Given the description of an element on the screen output the (x, y) to click on. 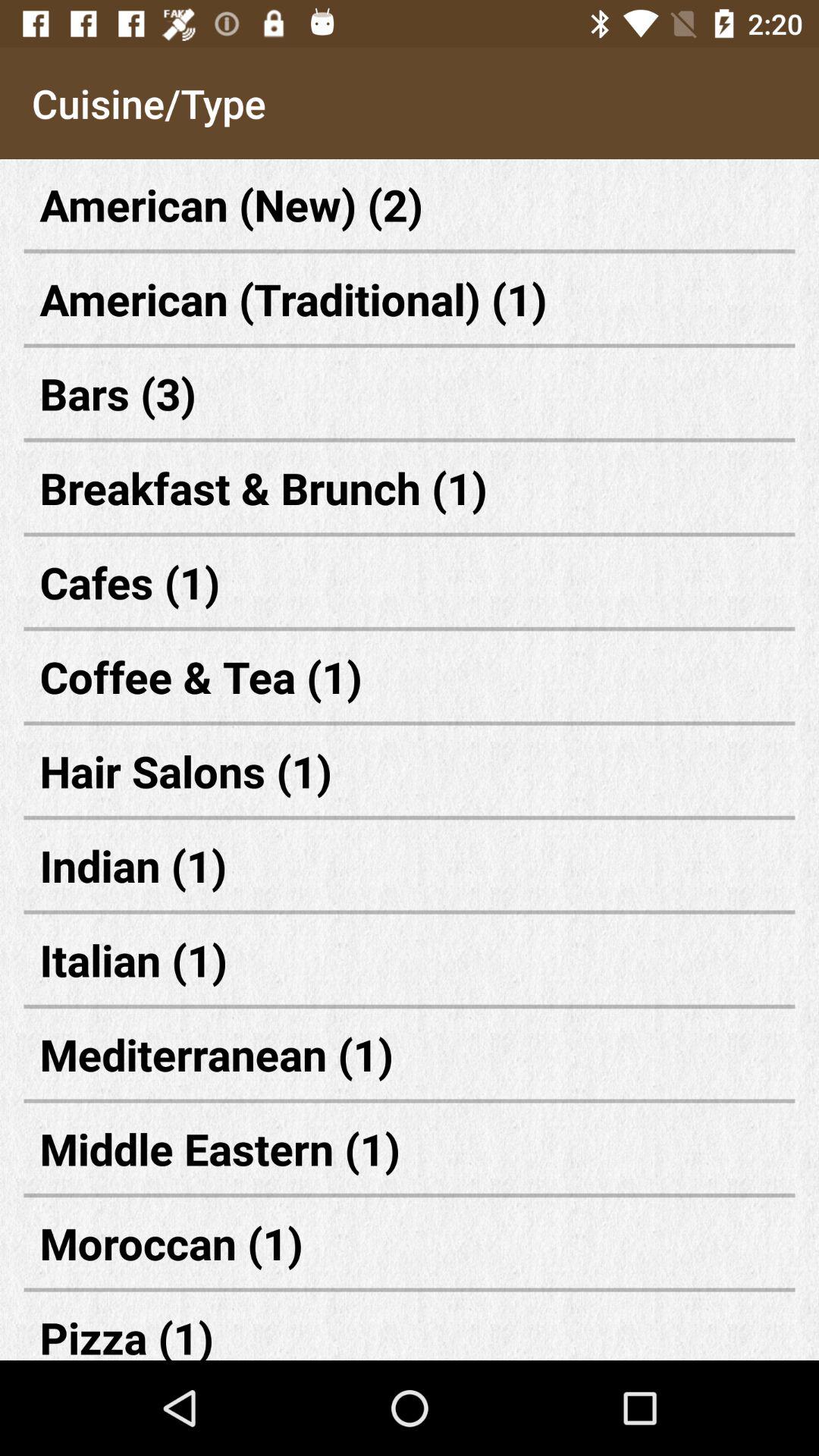
click coffee & tea (1) item (409, 676)
